Given the description of an element on the screen output the (x, y) to click on. 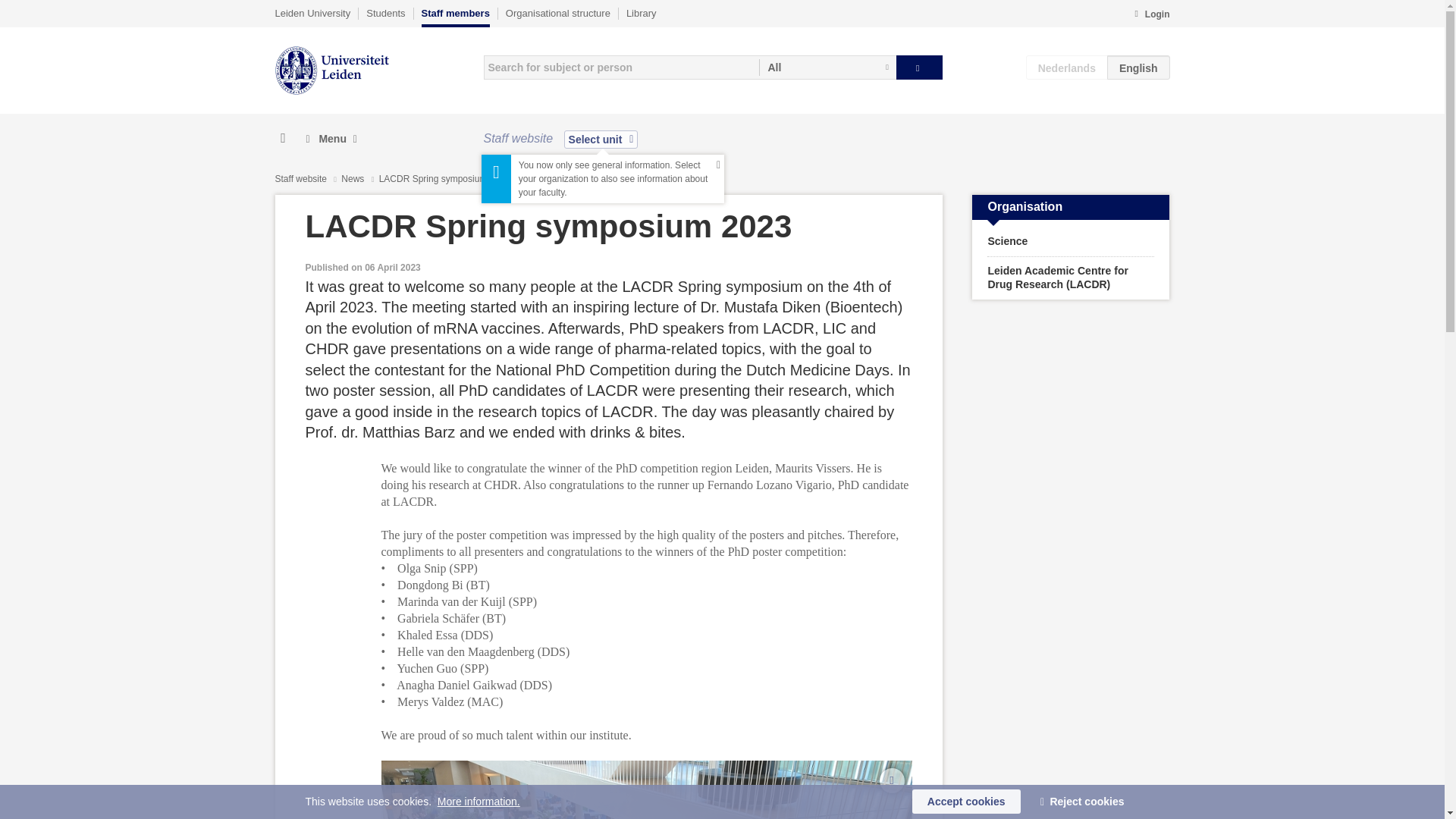
Organisational structure (557, 13)
Leiden University (312, 13)
All (827, 67)
Select unit (601, 139)
Library (641, 13)
Staff members (455, 17)
Login (1151, 14)
Search (919, 67)
Students (385, 13)
Menu (330, 139)
